Given the description of an element on the screen output the (x, y) to click on. 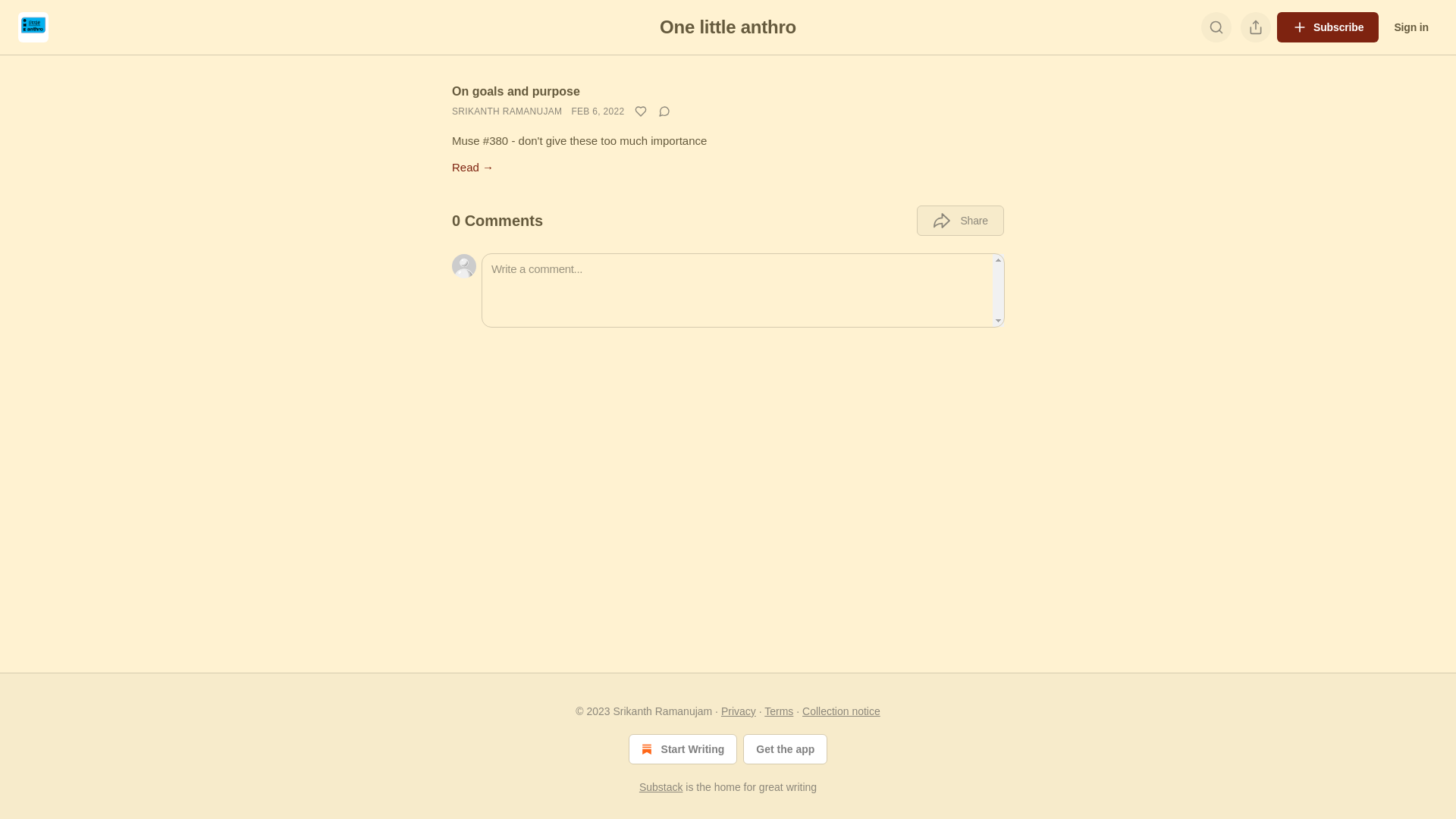
One little anthro Element type: text (727, 26)
Privacy Element type: text (738, 711)
Share Element type: text (960, 220)
Start Writing Element type: text (682, 749)
Subscribe Element type: text (1327, 27)
Terms Element type: text (778, 711)
Substack Element type: text (661, 787)
Get the app Element type: text (785, 749)
Sign in Element type: text (1410, 27)
SRIKANTH RAMANUJAM Element type: text (506, 111)
On goals and purpose Element type: text (515, 90)
Collection notice Element type: text (841, 711)
